Given the description of an element on the screen output the (x, y) to click on. 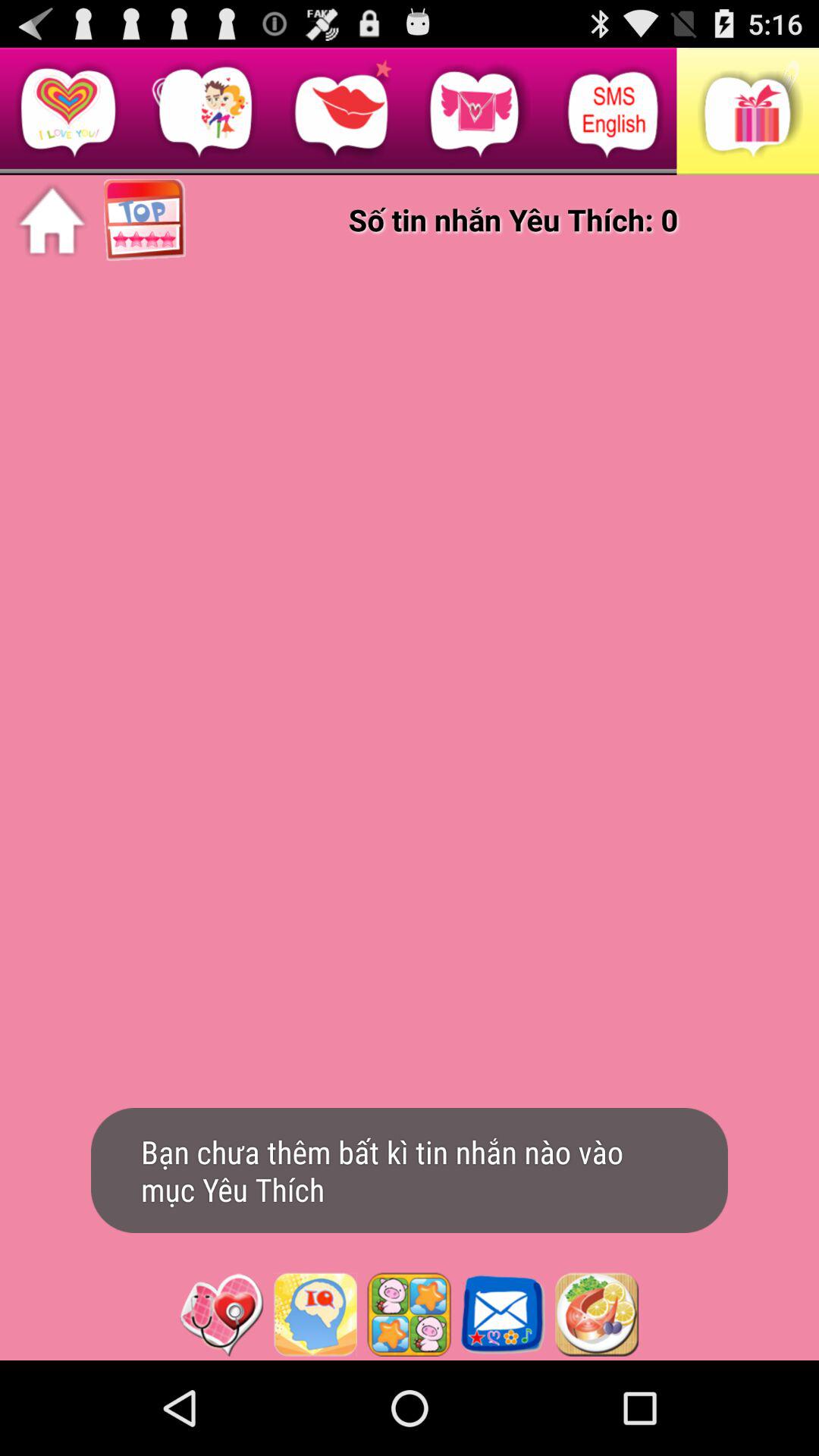
open mail app (502, 1314)
